Given the description of an element on the screen output the (x, y) to click on. 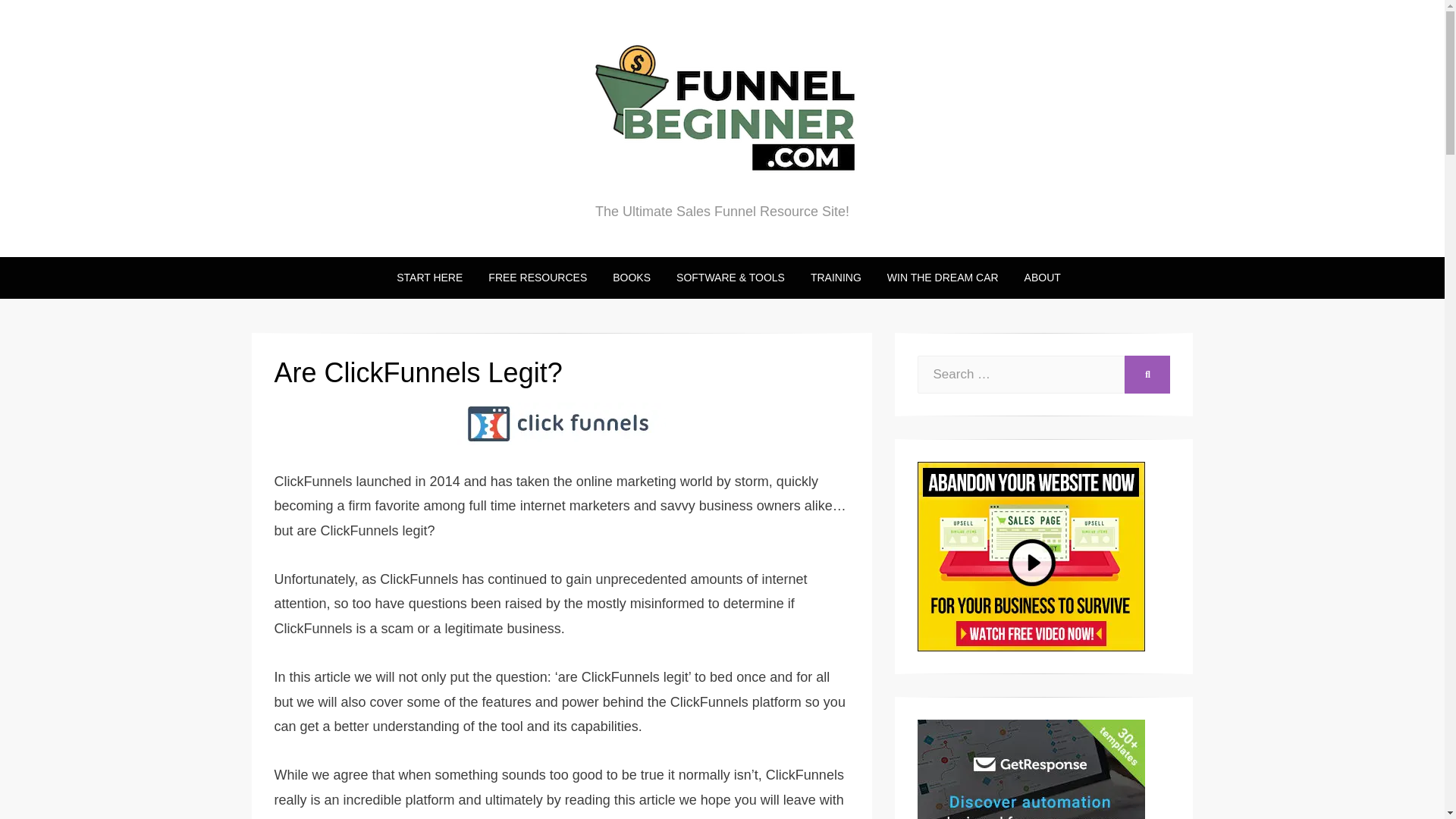
TRAINING (836, 277)
FREE RESOURCES (537, 277)
ABOUT (1036, 277)
START HERE (430, 277)
BOOKS (631, 277)
WIN THE DREAM CAR (943, 277)
Search for: (1021, 374)
SEARCH (1147, 374)
